Given the description of an element on the screen output the (x, y) to click on. 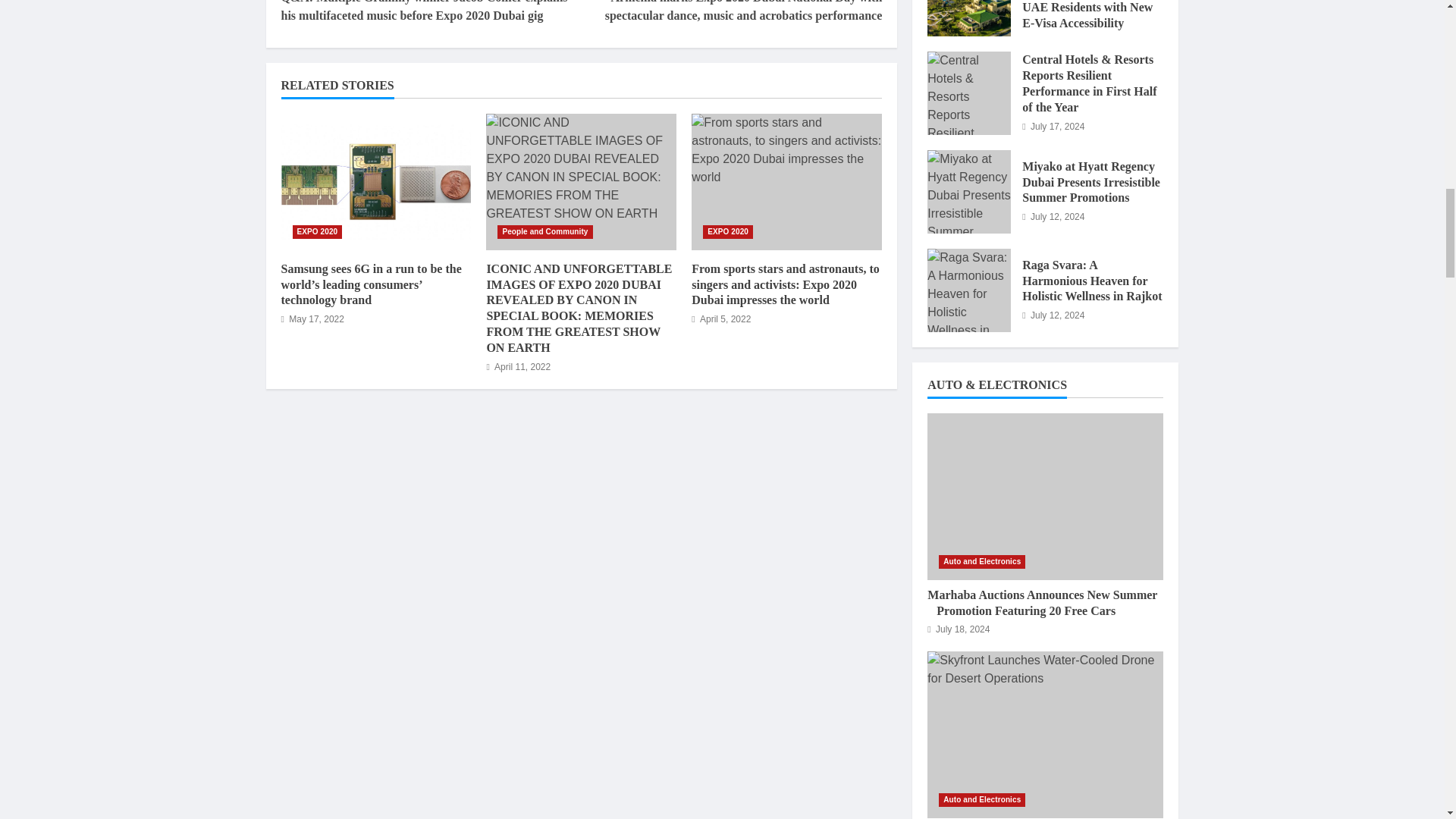
Skyfront Launches Water-Cooled Drone for Desert Operations (1045, 734)
